Given the description of an element on the screen output the (x, y) to click on. 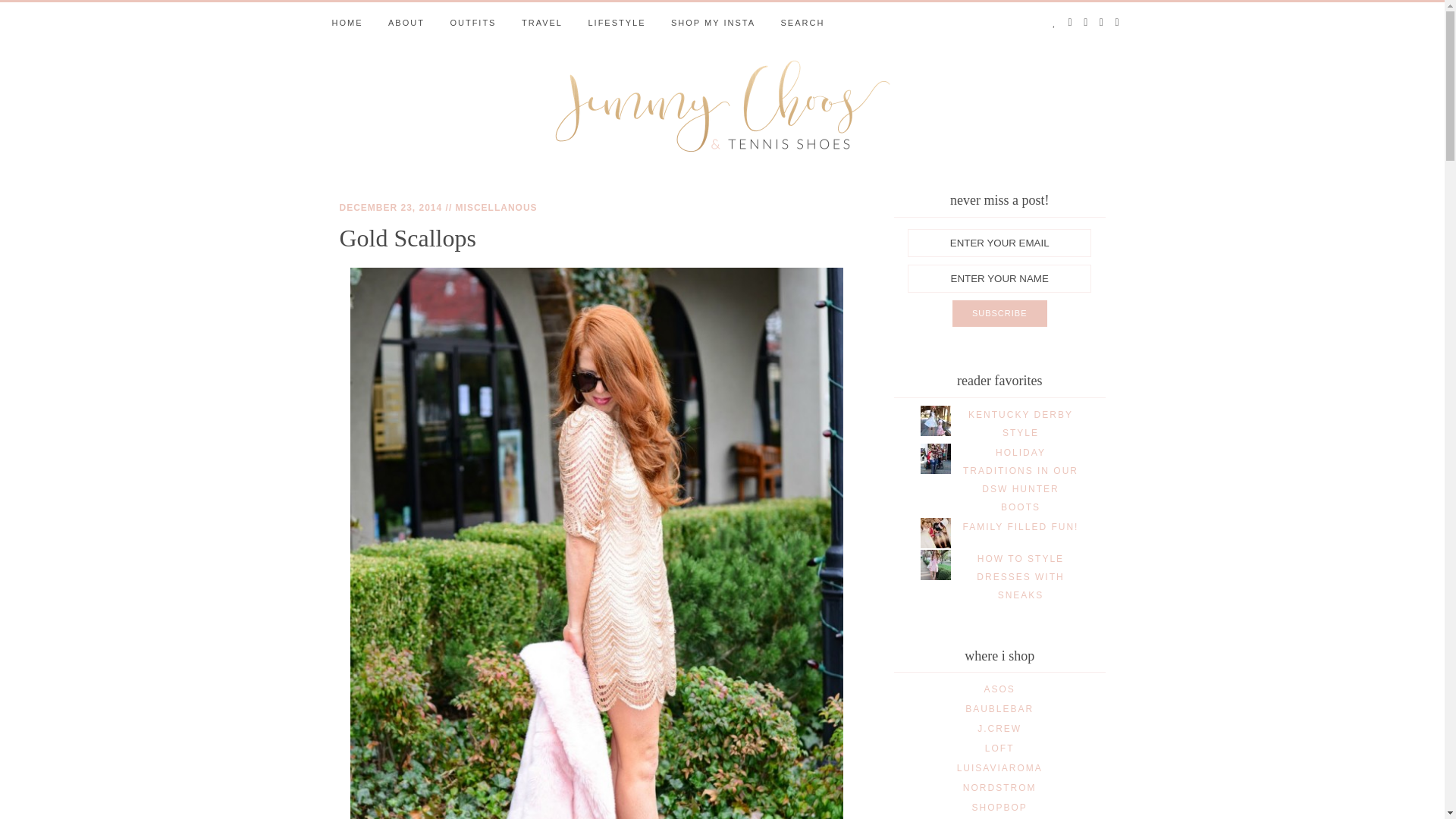
HOME (346, 23)
ENTER YOUR NAME (998, 277)
ABOUT (406, 23)
How to Style Dresses with Sneaks (1020, 576)
MISCELLANOUS (496, 207)
LIFESTYLE (616, 23)
Holiday Traditions in our DSW Hunter Boots (1020, 479)
SHOP MY INSTA (713, 23)
Subscribe (999, 313)
Family Filled Fun! (1020, 526)
Kentucky Derby Style (1020, 423)
SEARCH (802, 23)
ENTER YOUR EMAIL (998, 243)
OUTFITS (472, 23)
TRAVEL (541, 23)
